Given the description of an element on the screen output the (x, y) to click on. 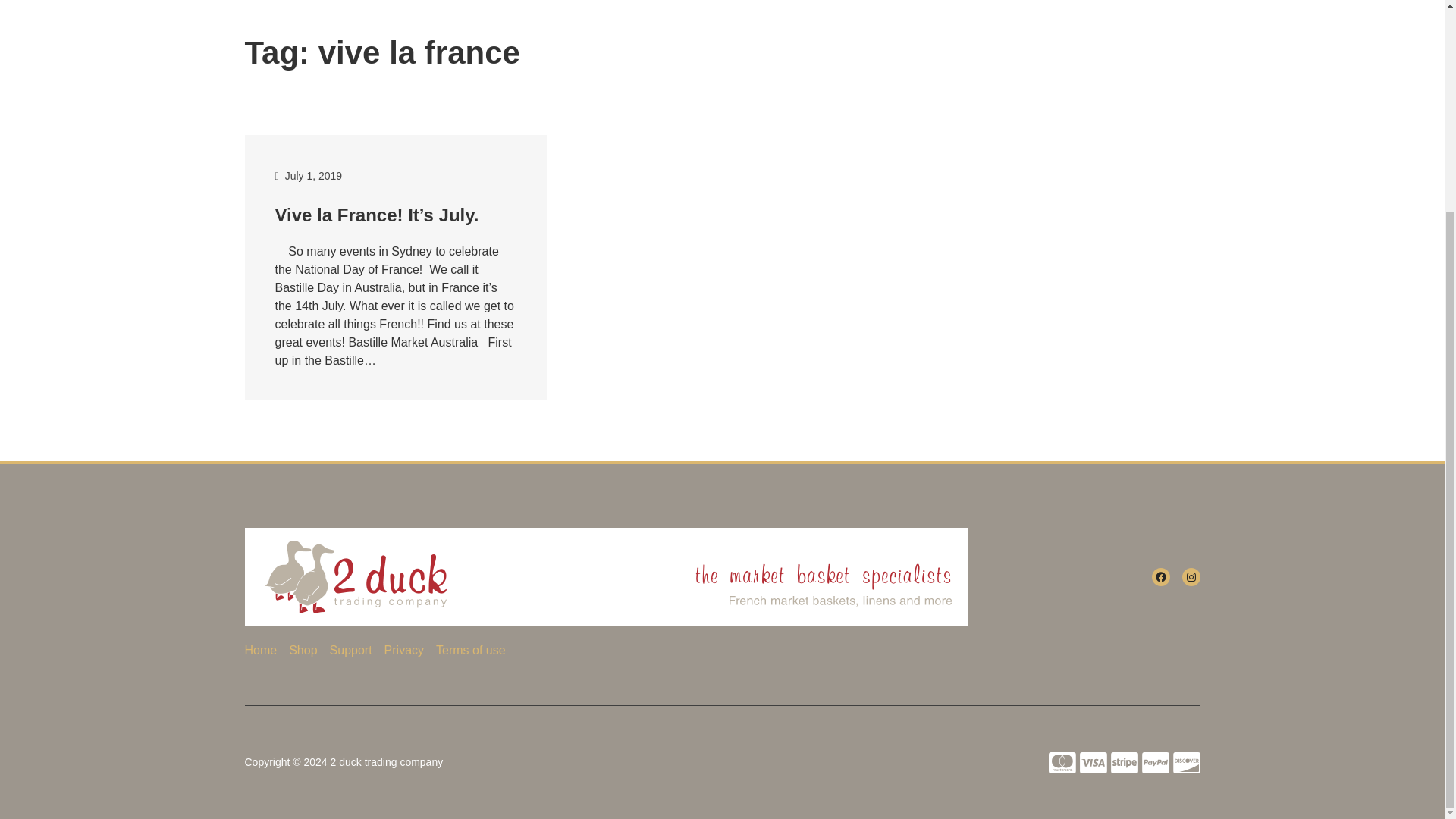
Privacy (403, 649)
Instagram (1189, 577)
Home (260, 649)
Facebook (1160, 577)
Terms of use (470, 649)
Support (351, 649)
Shop (302, 649)
